Given the description of an element on the screen output the (x, y) to click on. 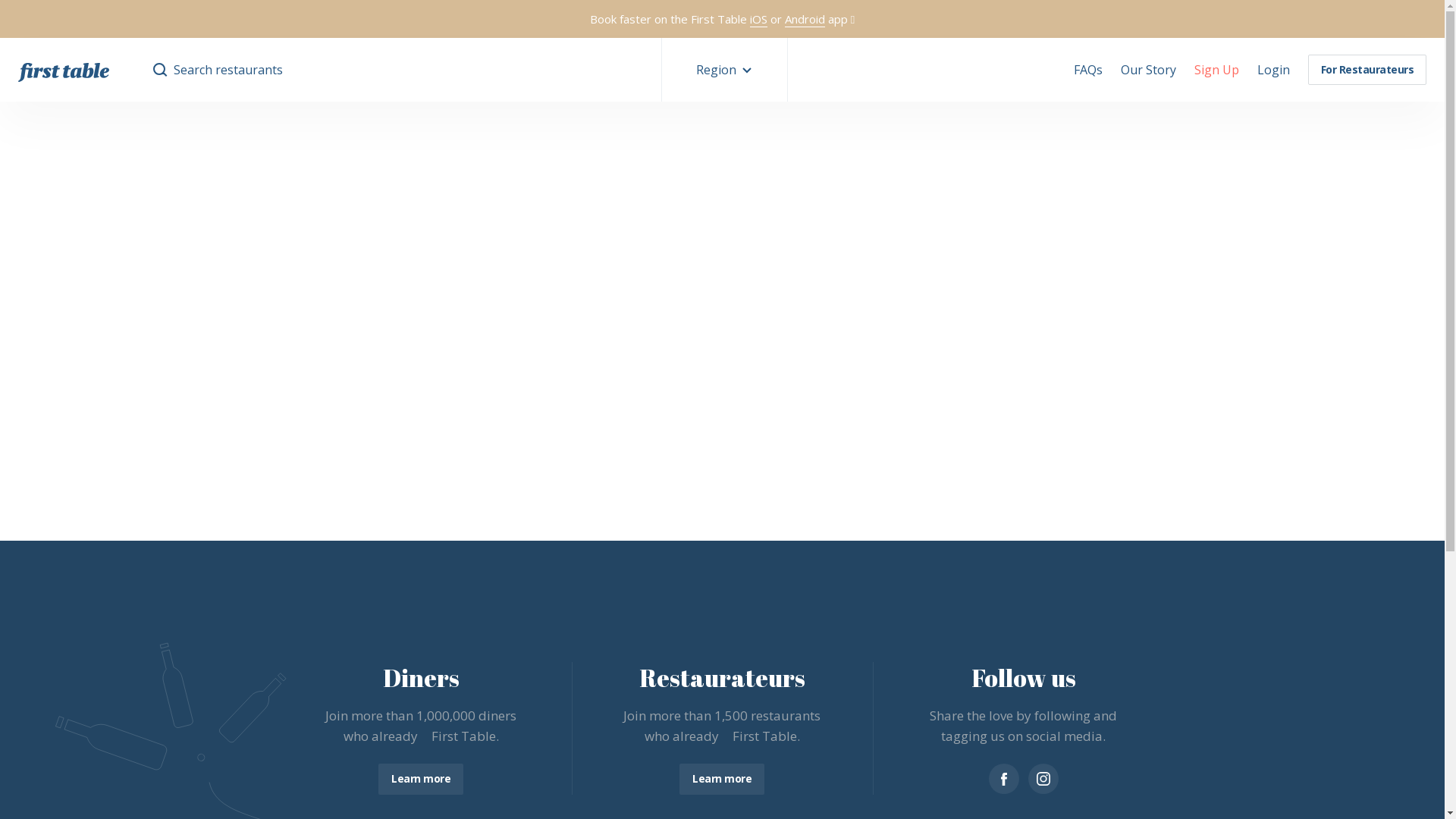
Sign Up Element type: text (1215, 69)
Android Element type: text (804, 19)
For Restaurateurs Element type: text (1366, 69)
Learn more Element type: text (721, 778)
FAQs Element type: text (1087, 69)
iOS Element type: text (758, 19)
Our Story Element type: text (1148, 69)
Login Element type: text (1273, 69)
Learn more Element type: text (420, 778)
